Given the description of an element on the screen output the (x, y) to click on. 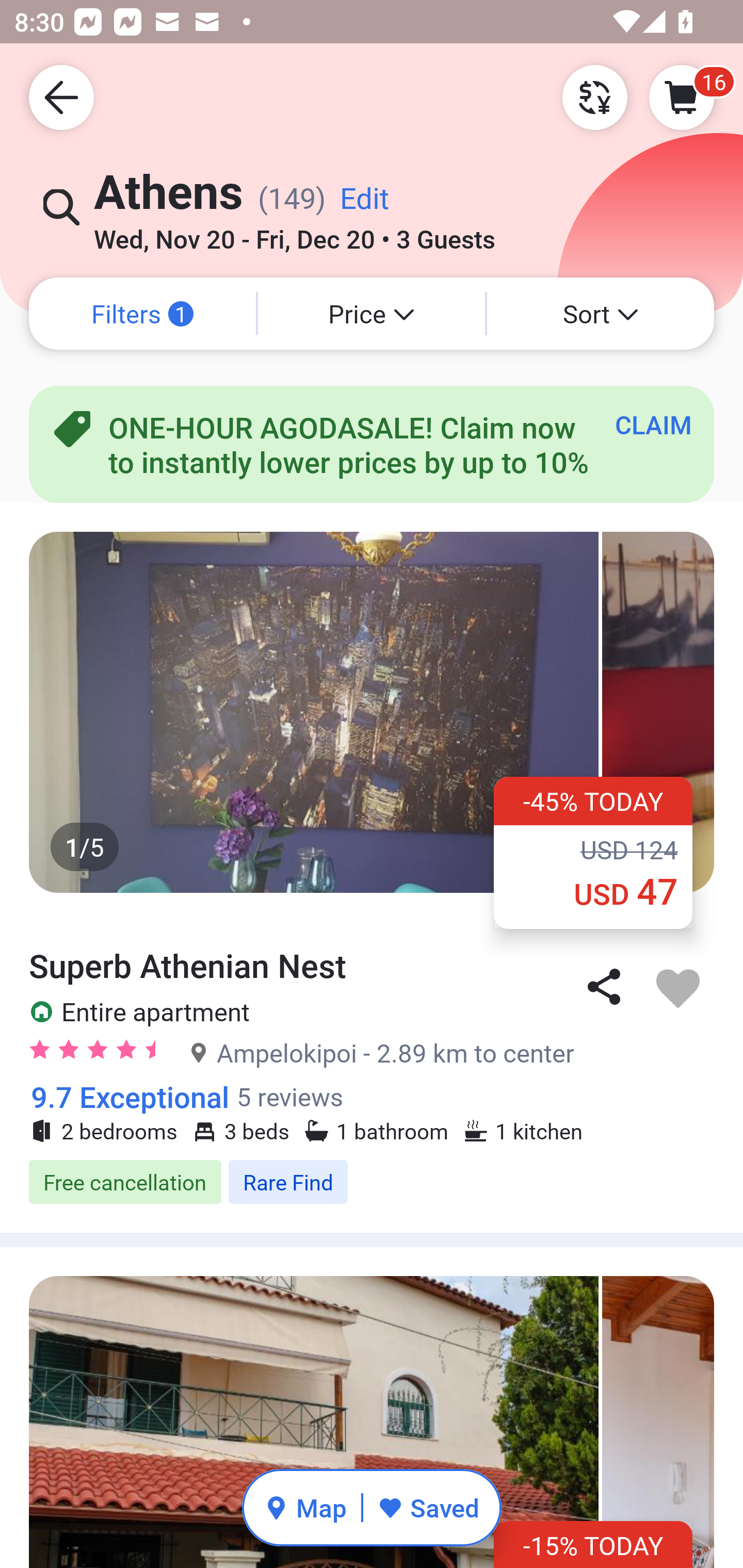
Filters 1 (141, 313)
Price (371, 313)
Sort (600, 313)
CLAIM (653, 424)
1/5 (371, 711)
-45% TODAY ‪USD 124 ‪USD 47 (593, 852)
Free cancellation Rare Find (371, 1182)
Map (305, 1507)
Saved (428, 1507)
-15% TODAY (593, 1544)
